Given the description of an element on the screen output the (x, y) to click on. 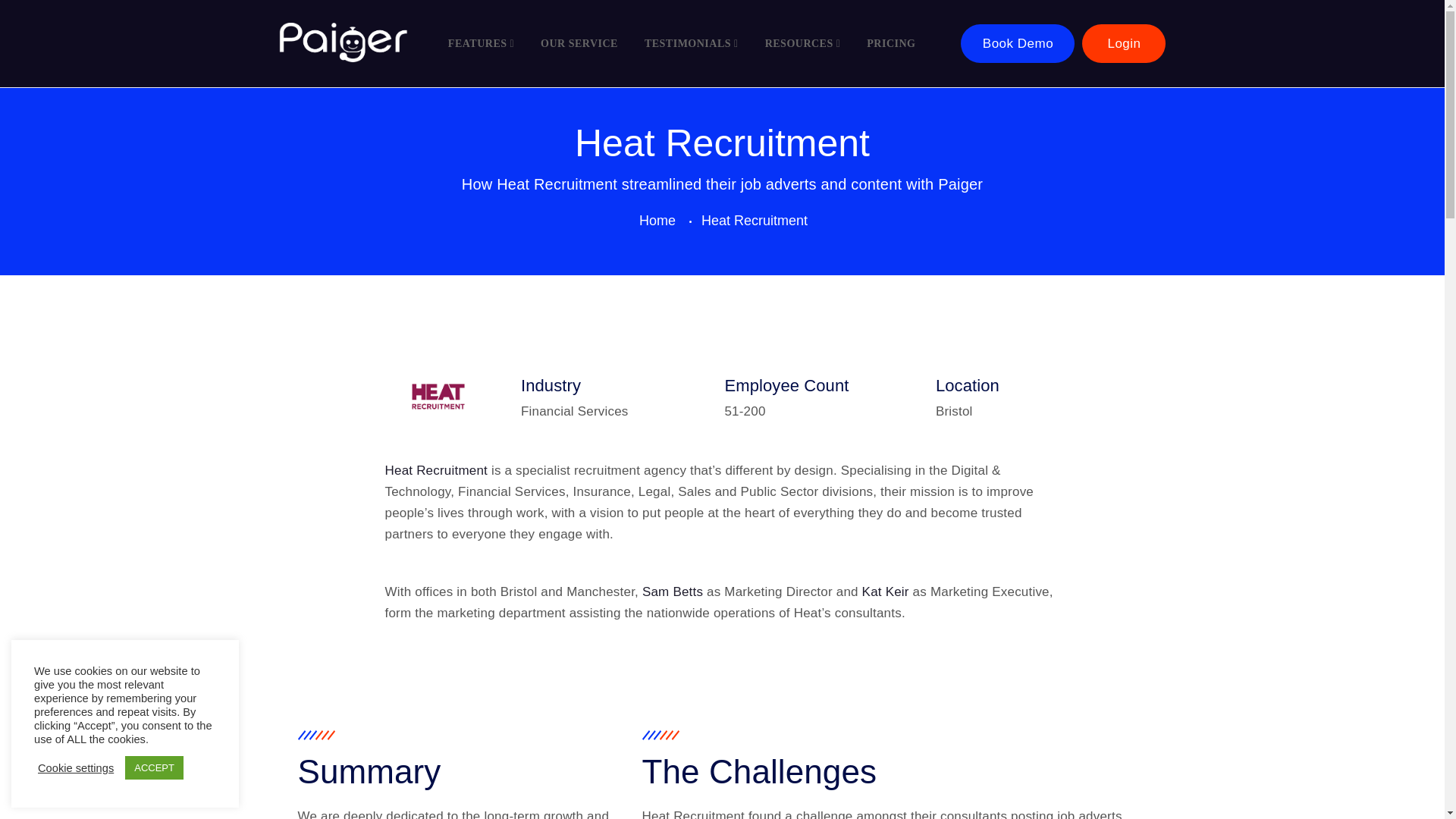
RESOURCES (814, 43)
Home (661, 220)
Sam Betts (672, 591)
OUR SERVICE (590, 43)
Kat Keir (884, 591)
Heat Recruitment (436, 470)
Book Demo (1017, 43)
Login (1123, 43)
FEATURES (492, 43)
TESTIMONIALS (703, 43)
